Given the description of an element on the screen output the (x, y) to click on. 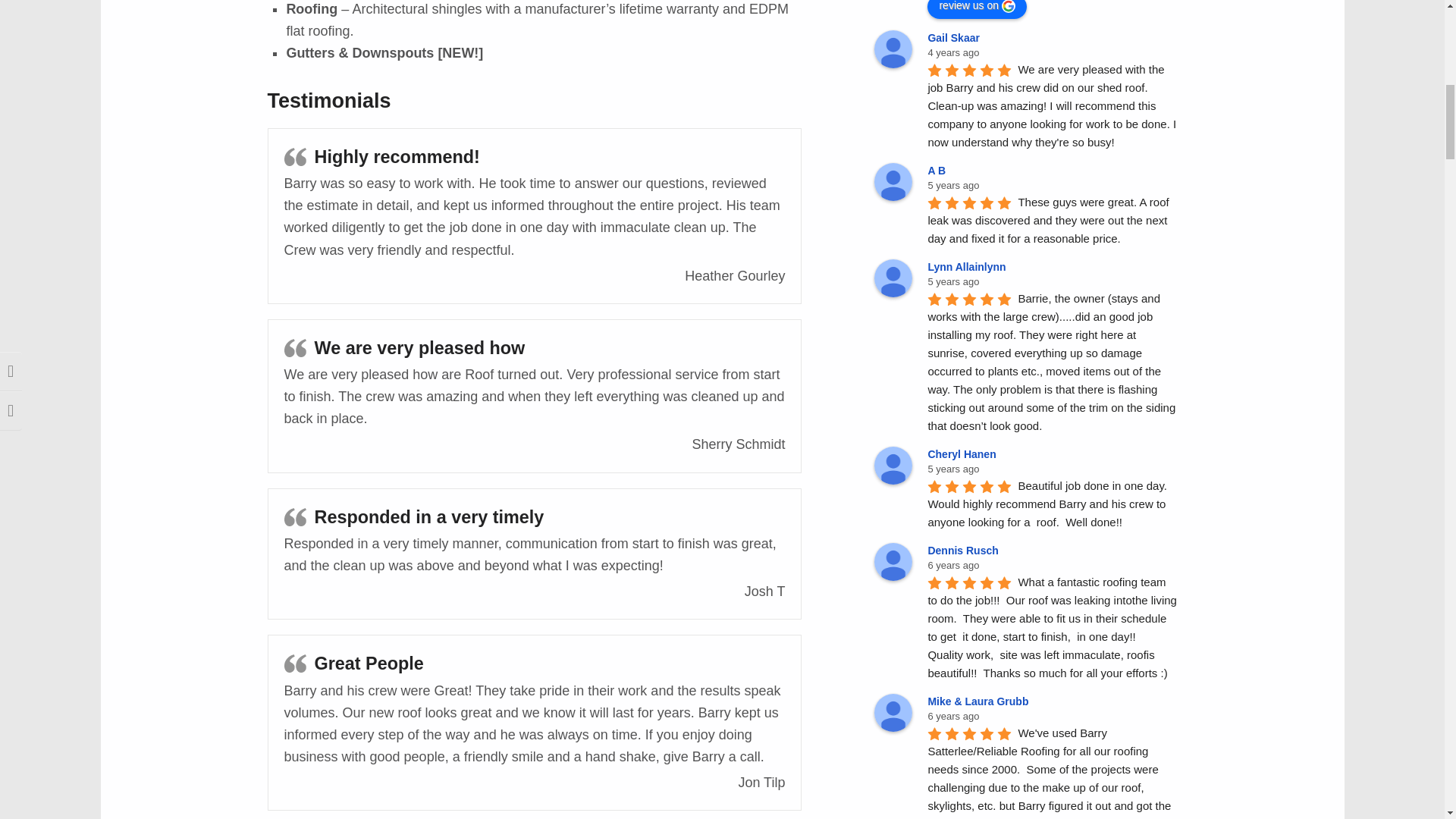
A B (938, 170)
review us on (976, 9)
Gail Skaar (955, 37)
Cheryl Hanen (963, 453)
Dennis Rusch (965, 550)
Lynn Allainlynn (968, 266)
